Given the description of an element on the screen output the (x, y) to click on. 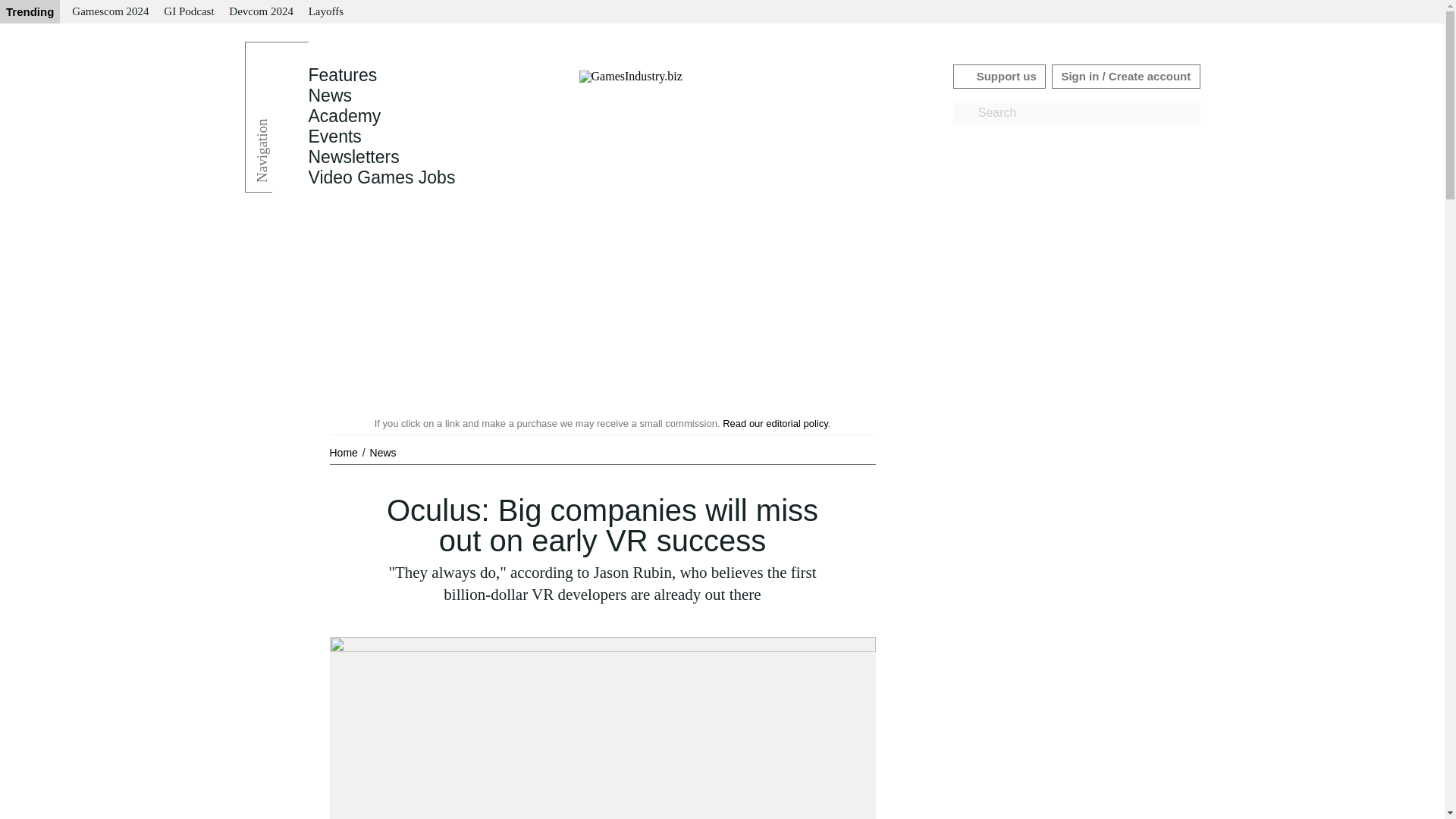
Devcom 2024 (260, 11)
Features (342, 75)
Events (334, 136)
News (382, 452)
Support us (999, 75)
Gamescom 2024 (109, 11)
Newsletters (352, 157)
Features (342, 75)
Layoffs (325, 11)
News (382, 452)
